Given the description of an element on the screen output the (x, y) to click on. 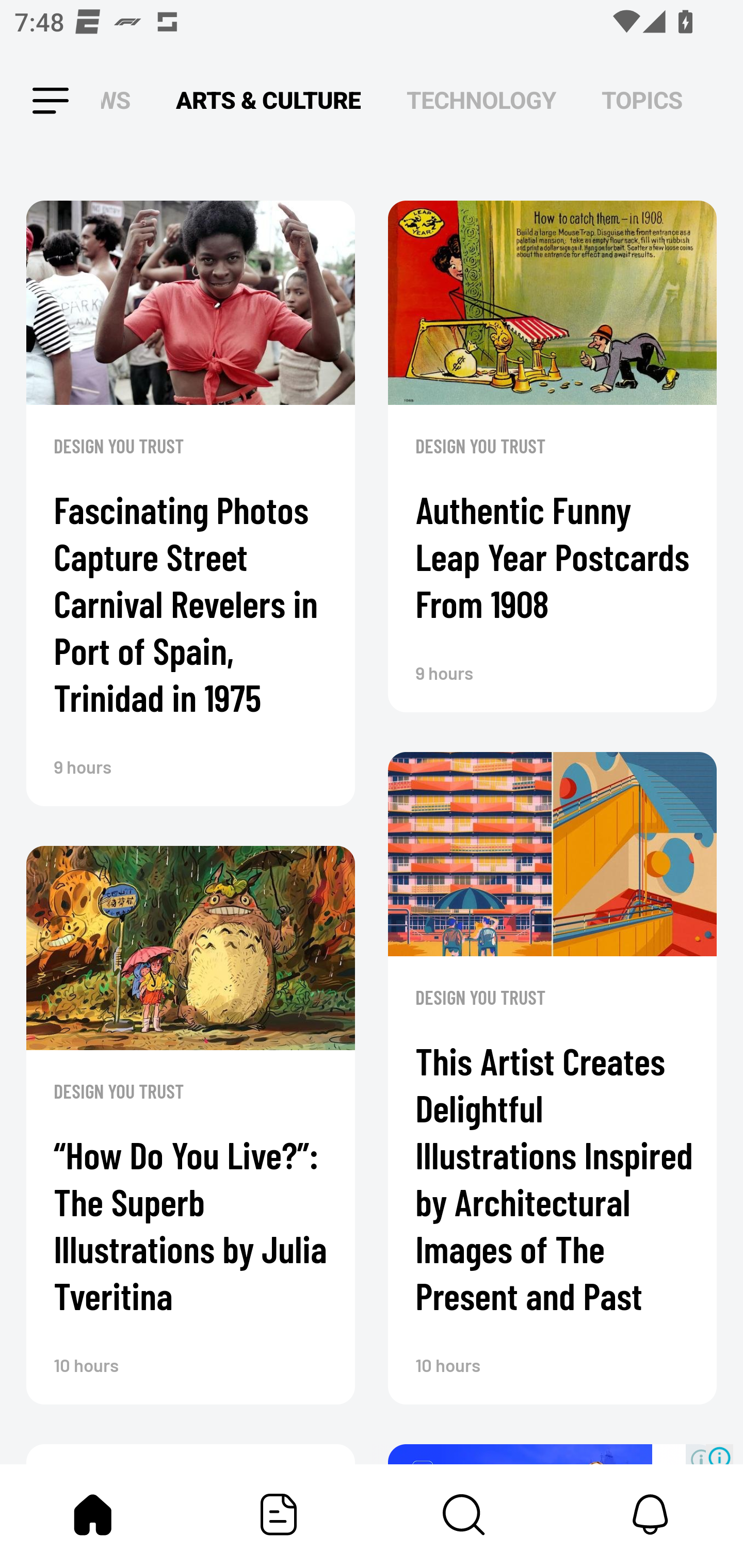
Leading Icon (32, 101)
NEWS (121, 100)
TECHNOLOGY (481, 100)
TOPICS (641, 100)
Featured (278, 1514)
Content Store (464, 1514)
Notifications (650, 1514)
